Given the description of an element on the screen output the (x, y) to click on. 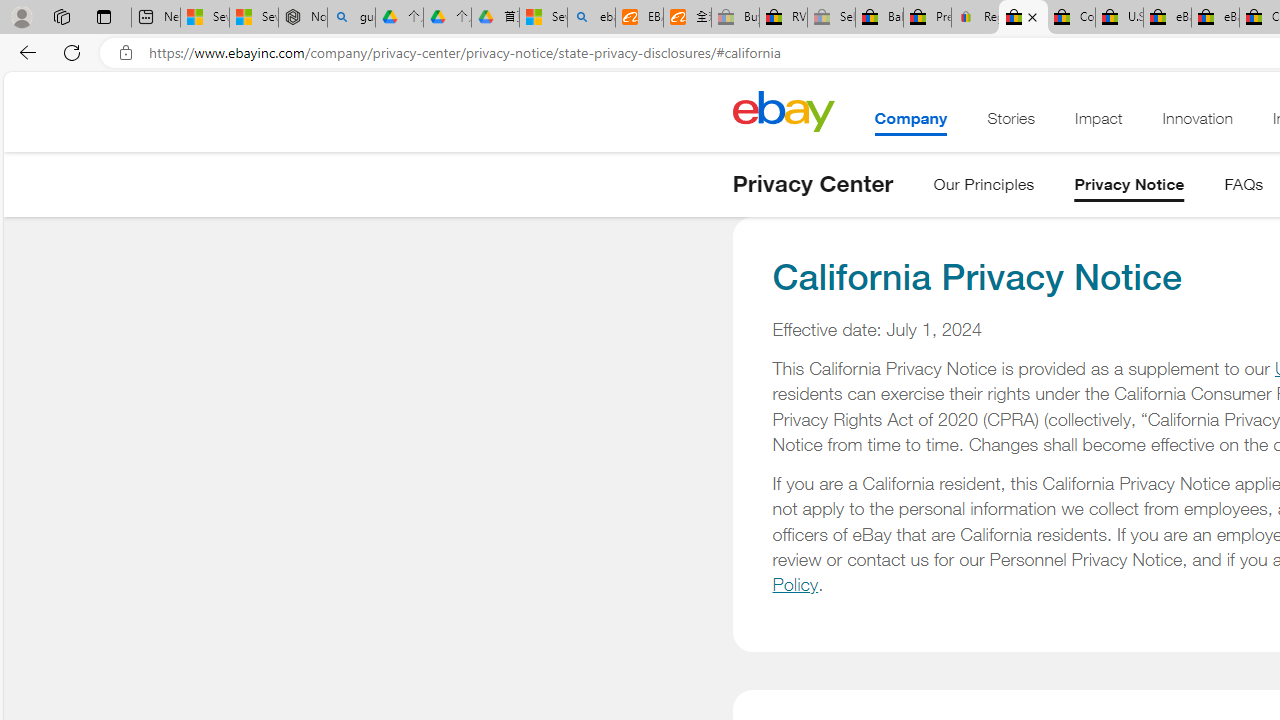
eBay Inc. Reports Third Quarter 2023 Results (1215, 17)
Consumer Health Data Privacy Policy - eBay Inc. (1071, 17)
RV, Trailer & Camper Steps & Ladders for sale | eBay (783, 17)
Our Principles (984, 188)
Sell worldwide with eBay - Sleeping (831, 17)
ebay - Search (591, 17)
Buy Auto Parts & Accessories | eBay - Sleeping (735, 17)
U.S. State Privacy Disclosures - eBay Inc. (1119, 17)
Privacy Notice (1129, 188)
Baby Keepsakes & Announcements for sale | eBay (879, 17)
